Given the description of an element on the screen output the (x, y) to click on. 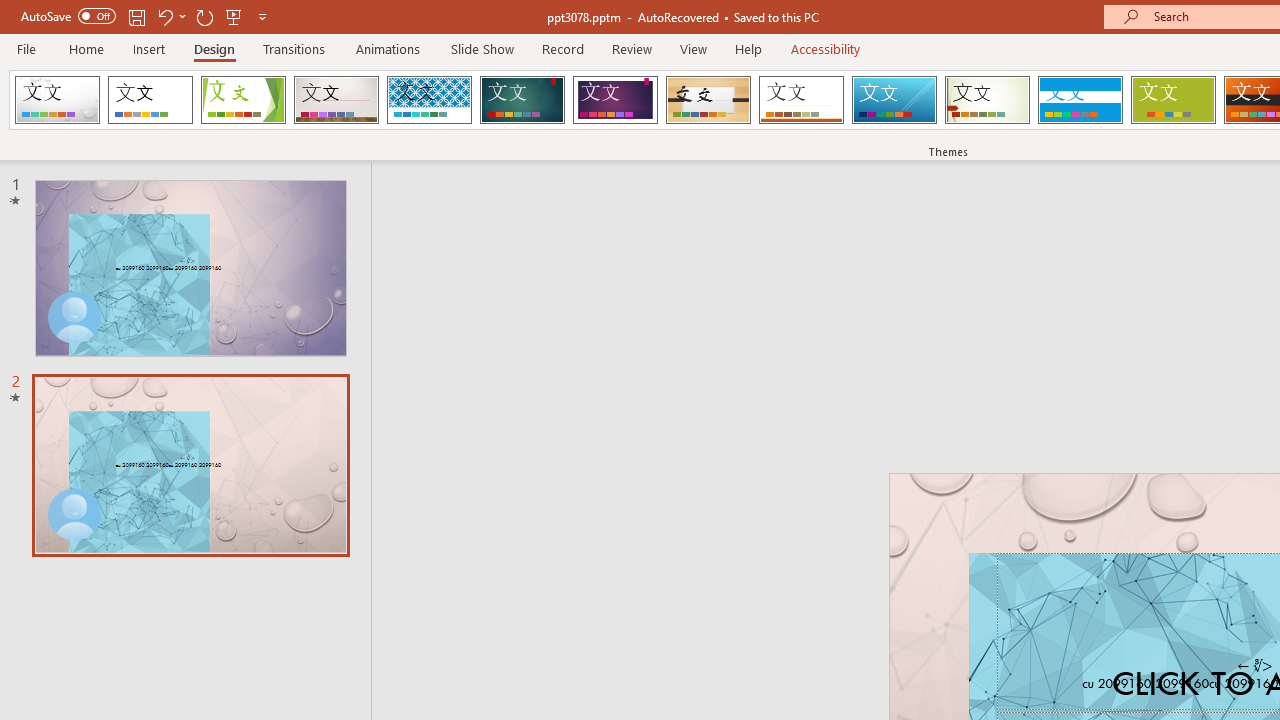
Integral (429, 100)
Retrospect (801, 100)
Wisp (987, 100)
